Given the description of an element on the screen output the (x, y) to click on. 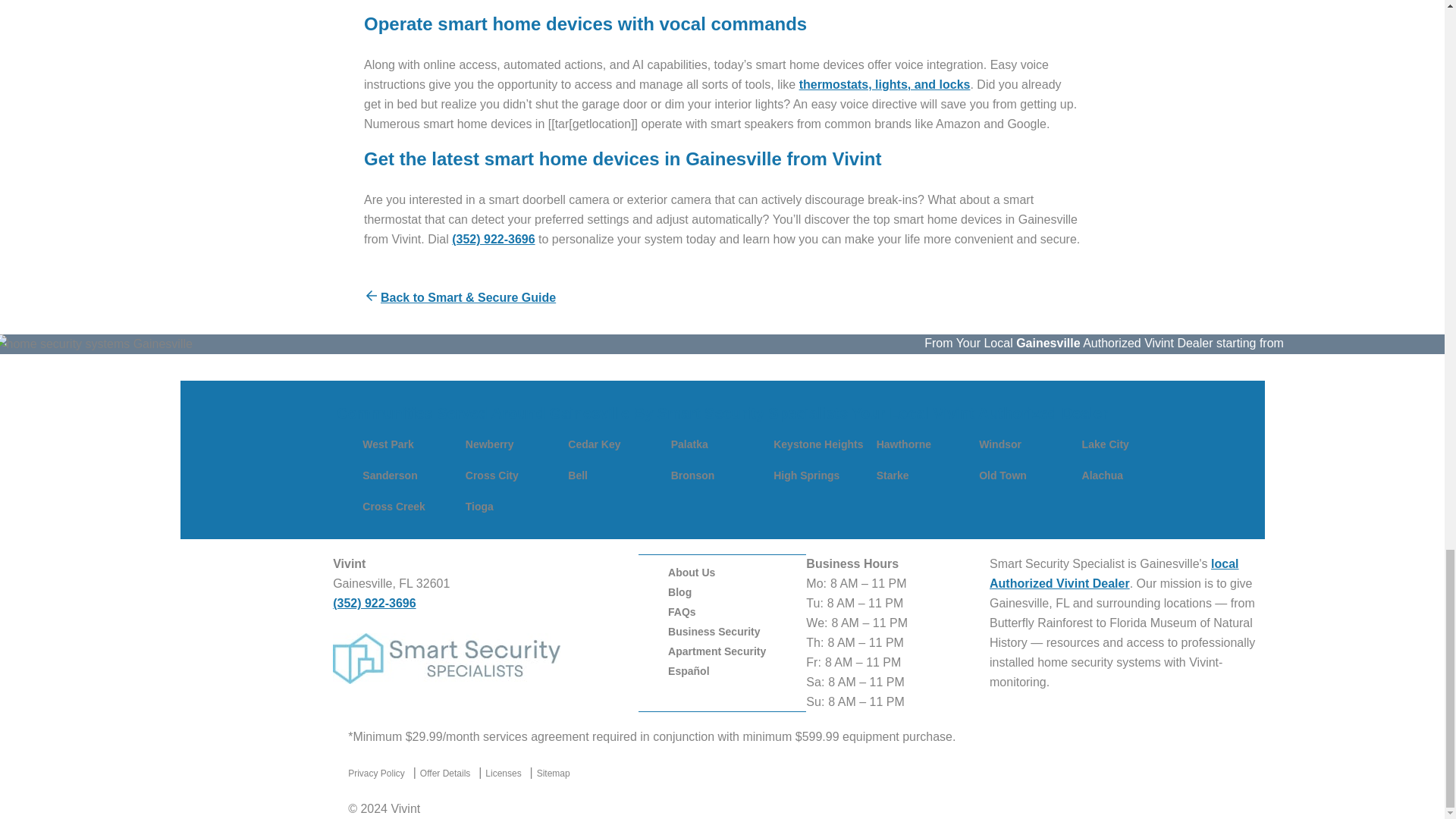
thermostats, lights, and locks (885, 83)
Thermostats, lights, and locks (885, 83)
